Given the description of an element on the screen output the (x, y) to click on. 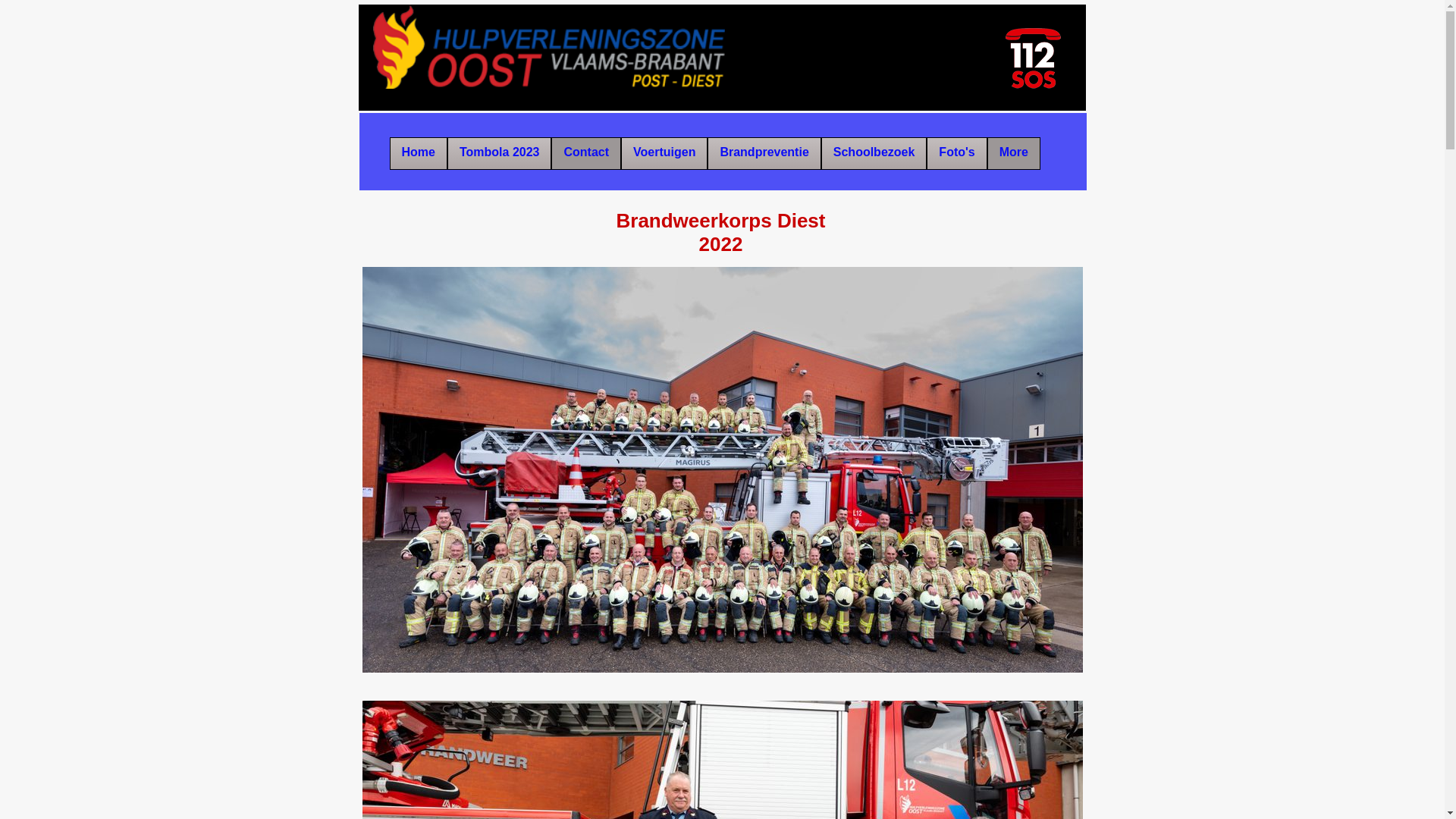
Schoolbezoek Element type: text (874, 153)
Brandpreventie Element type: text (763, 153)
Contact Element type: text (586, 153)
Home Element type: text (418, 153)
Voertuigen Element type: text (664, 153)
Foto's Element type: text (956, 153)
Tombola 2023 Element type: text (499, 153)
More Element type: text (1013, 153)
